Given the description of an element on the screen output the (x, y) to click on. 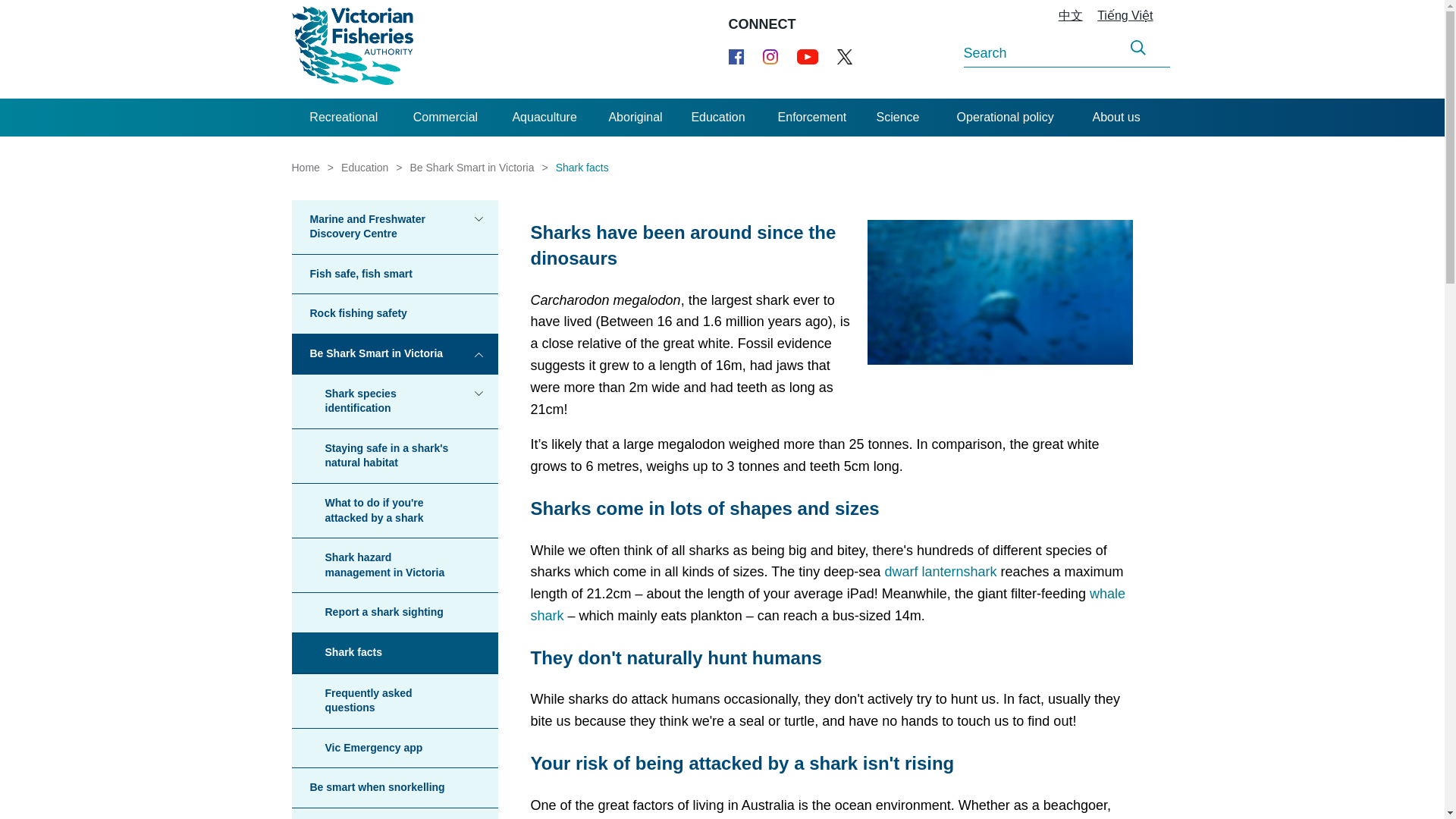
Recreational (343, 117)
Search (1137, 47)
YouTube (806, 56)
Instagram (769, 56)
Instagram (769, 56)
Facebook (735, 56)
Facebook (735, 56)
Commercial (445, 117)
Home - VFA (351, 48)
VFA (351, 48)
